Given the description of an element on the screen output the (x, y) to click on. 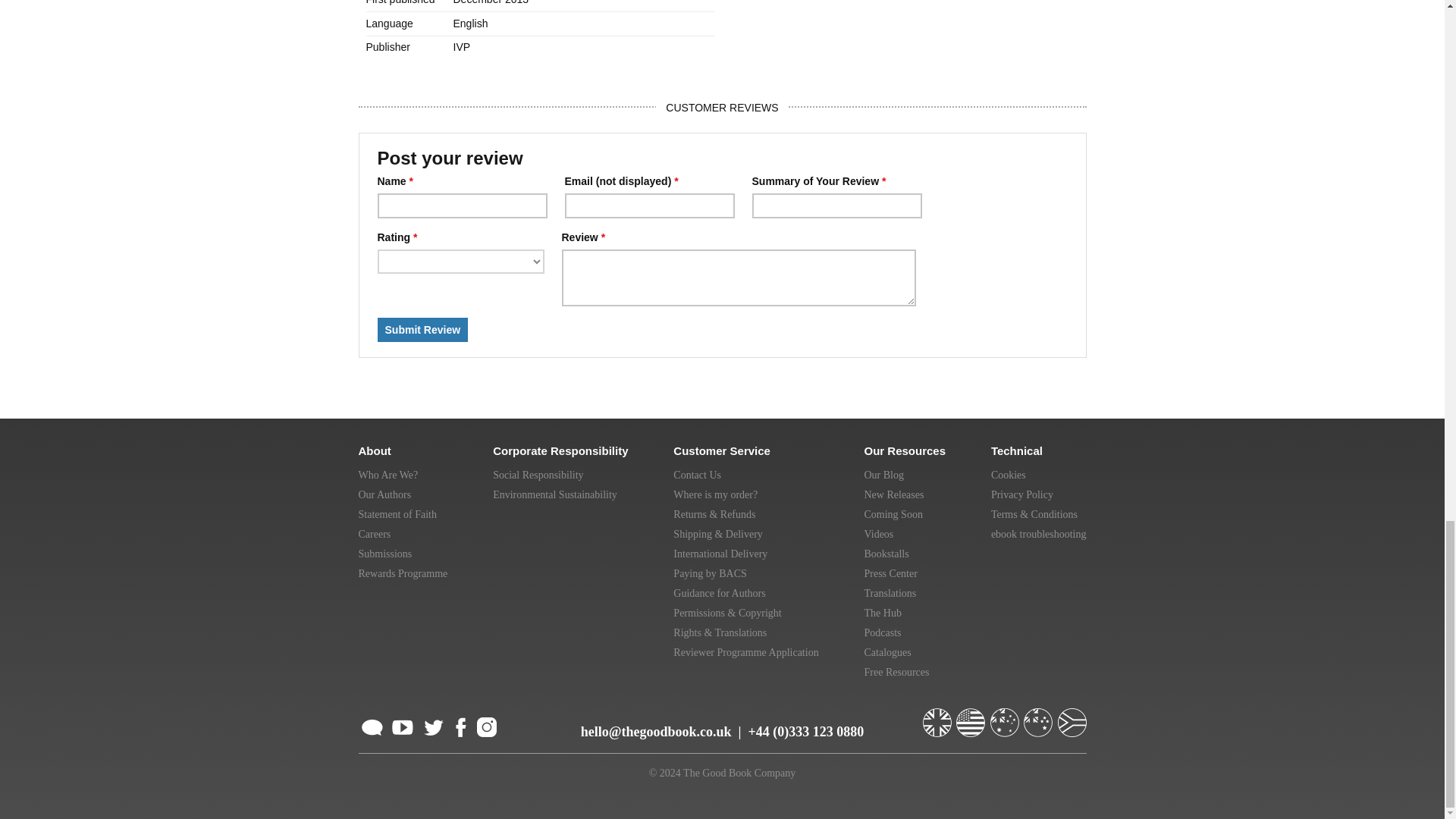
Go to Australia Website (1006, 715)
Go to US Website (972, 715)
Go to New Zealand Website (1039, 715)
Subscribe to feed (371, 725)
Submit Review (422, 329)
Go to South Africa Website (1071, 715)
Go to UK Website (937, 715)
